Given the description of an element on the screen output the (x, y) to click on. 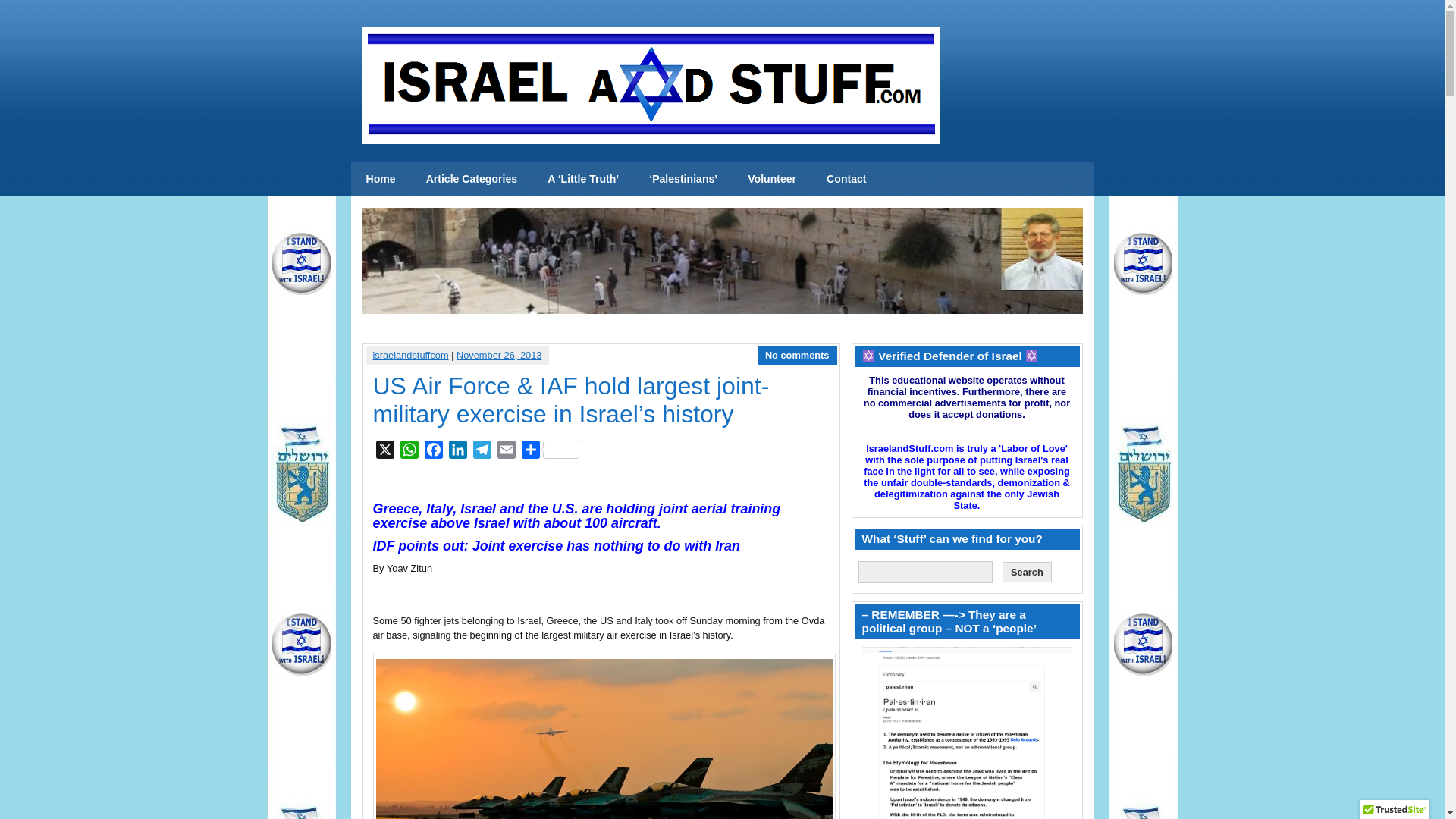
WhatsApp (409, 452)
X (384, 452)
Contact (845, 178)
X (384, 452)
Facebook (433, 452)
WhatsApp (409, 452)
November 26, 2013 (499, 355)
Posts by israelandstuffcom (410, 355)
news (380, 178)
Telegram (482, 452)
Home (380, 178)
israelandstuffcom (410, 355)
LinkedIn (457, 452)
Article Categories (471, 178)
Email (506, 452)
